Given the description of an element on the screen output the (x, y) to click on. 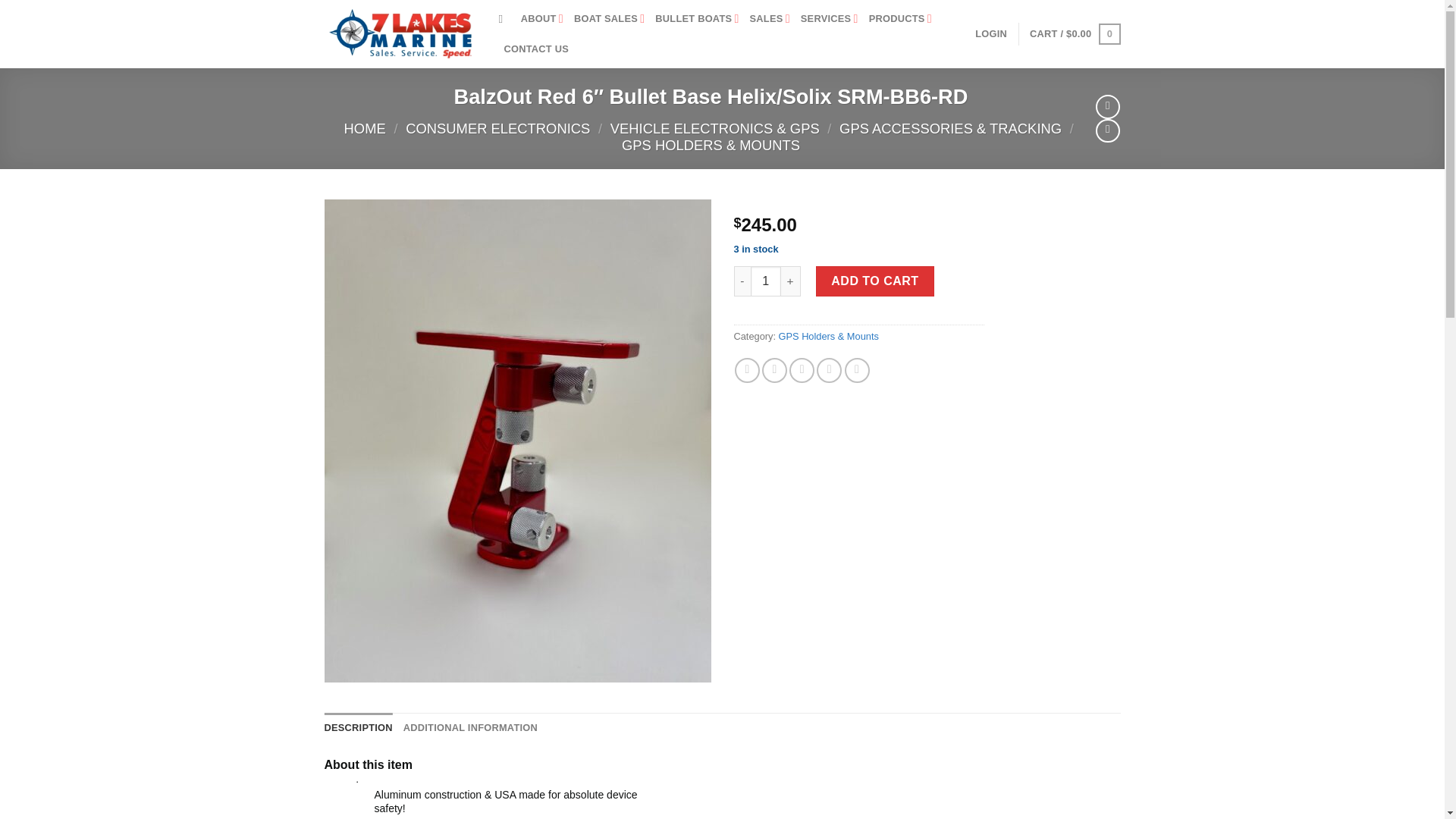
Share on Twitter (774, 370)
BULLET BOATS (696, 19)
Share on LinkedIn (856, 370)
Cart (1074, 34)
Seven Lakes Marine Service - Sales, Service, Speed (400, 33)
Pin on Pinterest (828, 370)
1 (765, 281)
SALES (769, 19)
BOAT SALES (609, 19)
LOGIN (991, 33)
ABOUT (542, 19)
SERVICES (829, 19)
PRODUCTS (900, 19)
Email to a Friend (801, 370)
Zoom (347, 659)
